Given the description of an element on the screen output the (x, y) to click on. 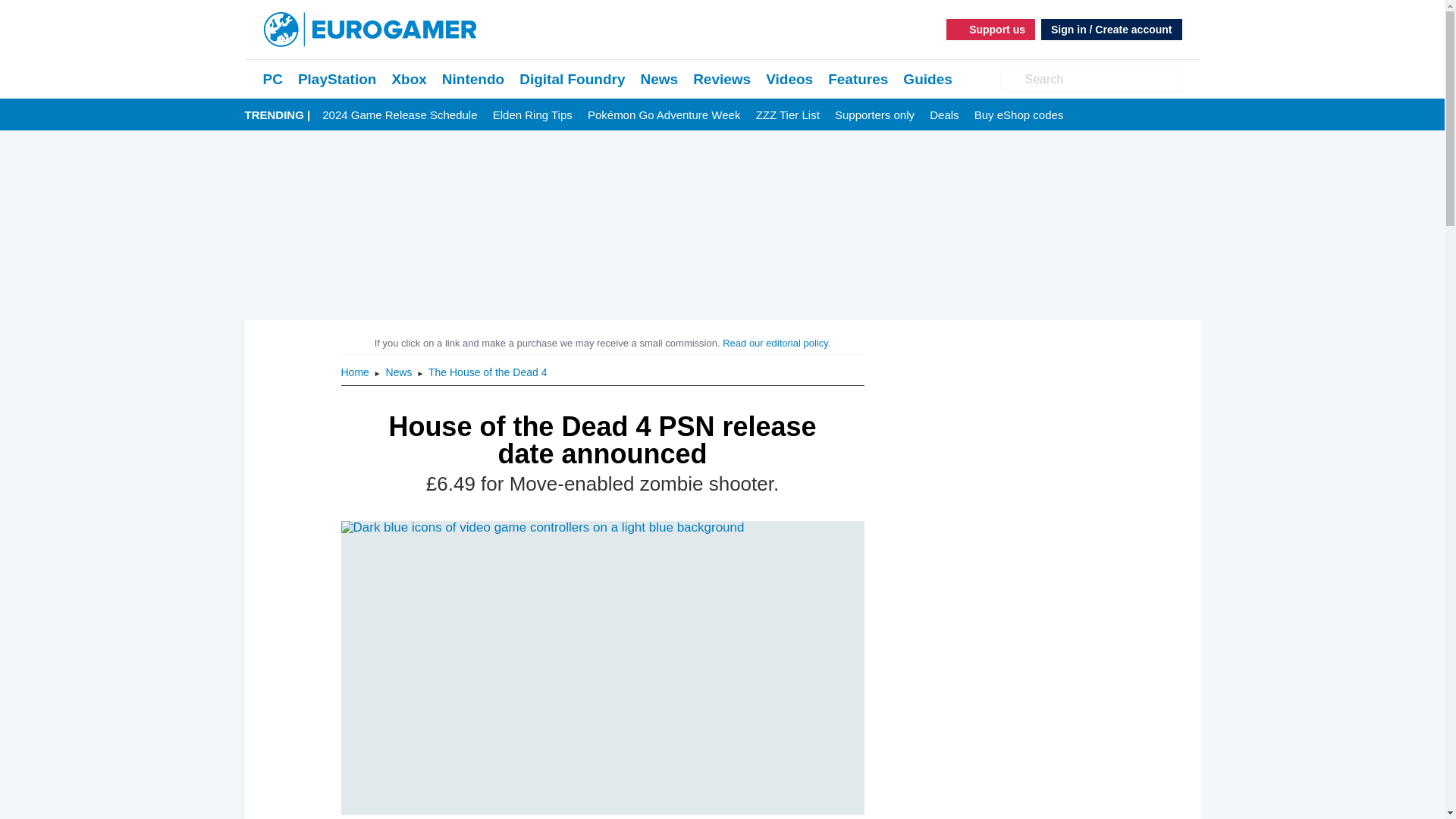
2024 Game Release Schedule (399, 114)
Reviews (722, 78)
Digital Foundry (571, 78)
The House of the Dead 4 (487, 372)
News (659, 78)
Guides (927, 78)
Nintendo (472, 78)
Supporters only (874, 114)
Home (356, 372)
2024 Game Release Schedule (399, 114)
Elden Ring Tips (532, 114)
Elden Ring Tips (532, 114)
Xbox (408, 78)
PlayStation (336, 78)
ZZZ Tier List (787, 114)
